Given the description of an element on the screen output the (x, y) to click on. 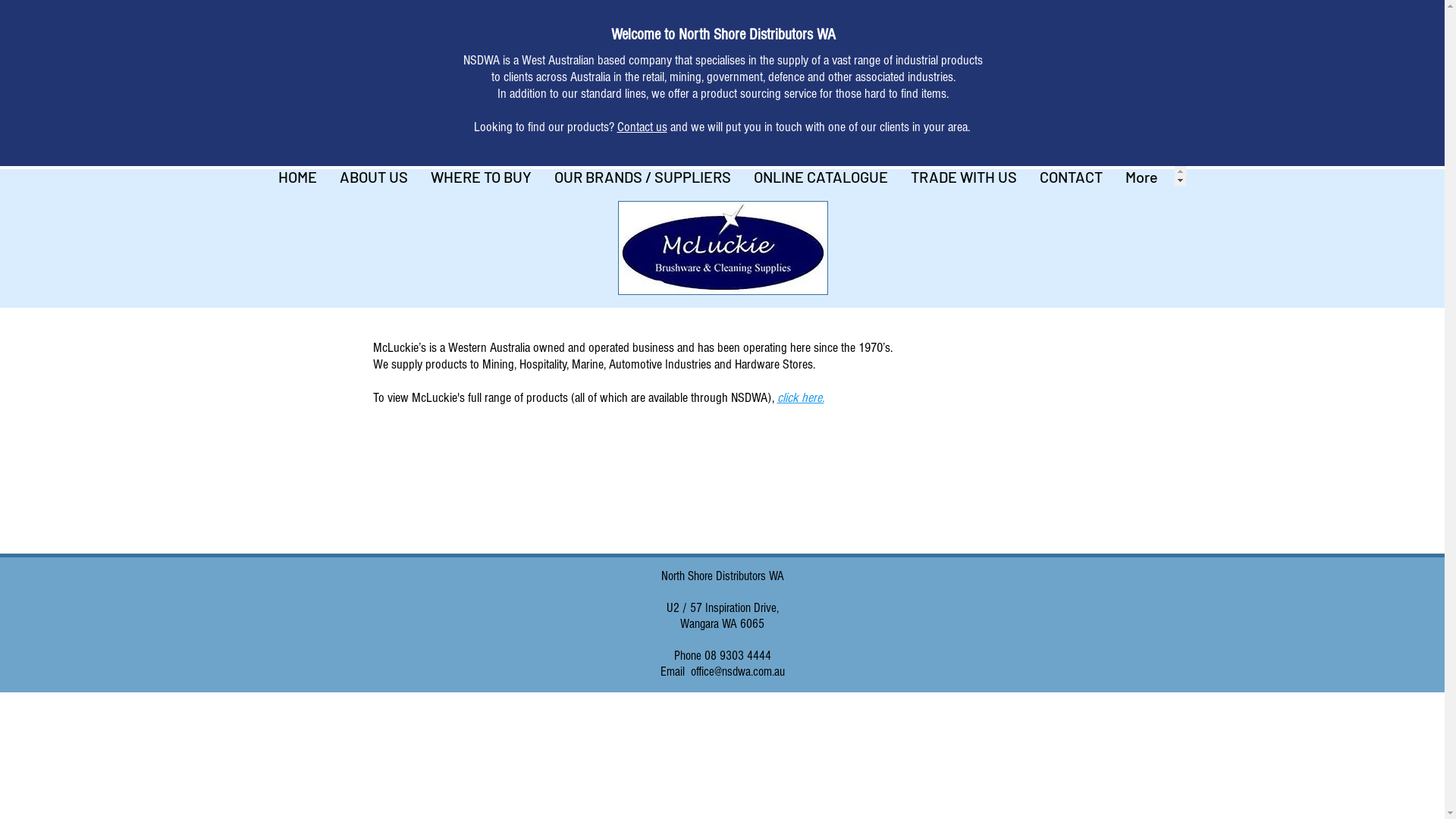
ONLINE CATALOGUE Element type: text (819, 175)
TRADE WITH US Element type: text (963, 175)
CONTACT Element type: text (1070, 175)
Contact us Element type: text (642, 126)
HOME Element type: text (297, 175)
OUR BRANDS / SUPPLIERS Element type: text (642, 175)
WHERE TO BUY Element type: text (480, 175)
office@nsdwa.com.au Element type: text (737, 671)
ABOUT US Element type: text (372, 175)
click here. Element type: text (799, 398)
